Given the description of an element on the screen output the (x, y) to click on. 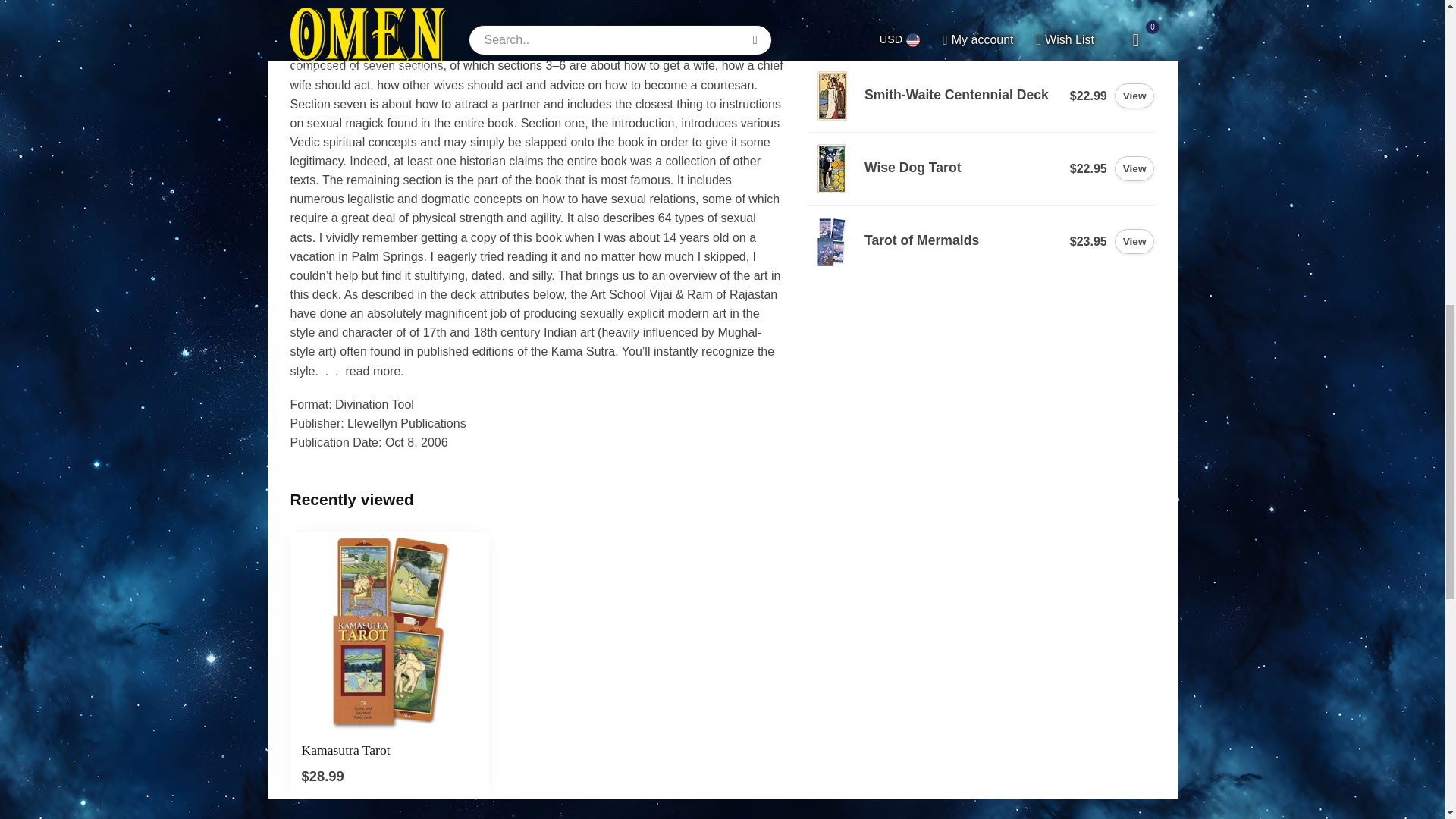
Llewellyn Publications Tarot of Mermaids (832, 241)
U.S. Games Systems Wise Dog Tarot (832, 168)
U.S. Games Systems Smith-Waite Centennial Deck (832, 95)
Llewellyn Publications Kamasutra Tarot (390, 750)
Llewellyn Publications Kamasutra Tarot (389, 632)
U.S. Games Systems Angel Inspiration Deck (832, 23)
